Given the description of an element on the screen output the (x, y) to click on. 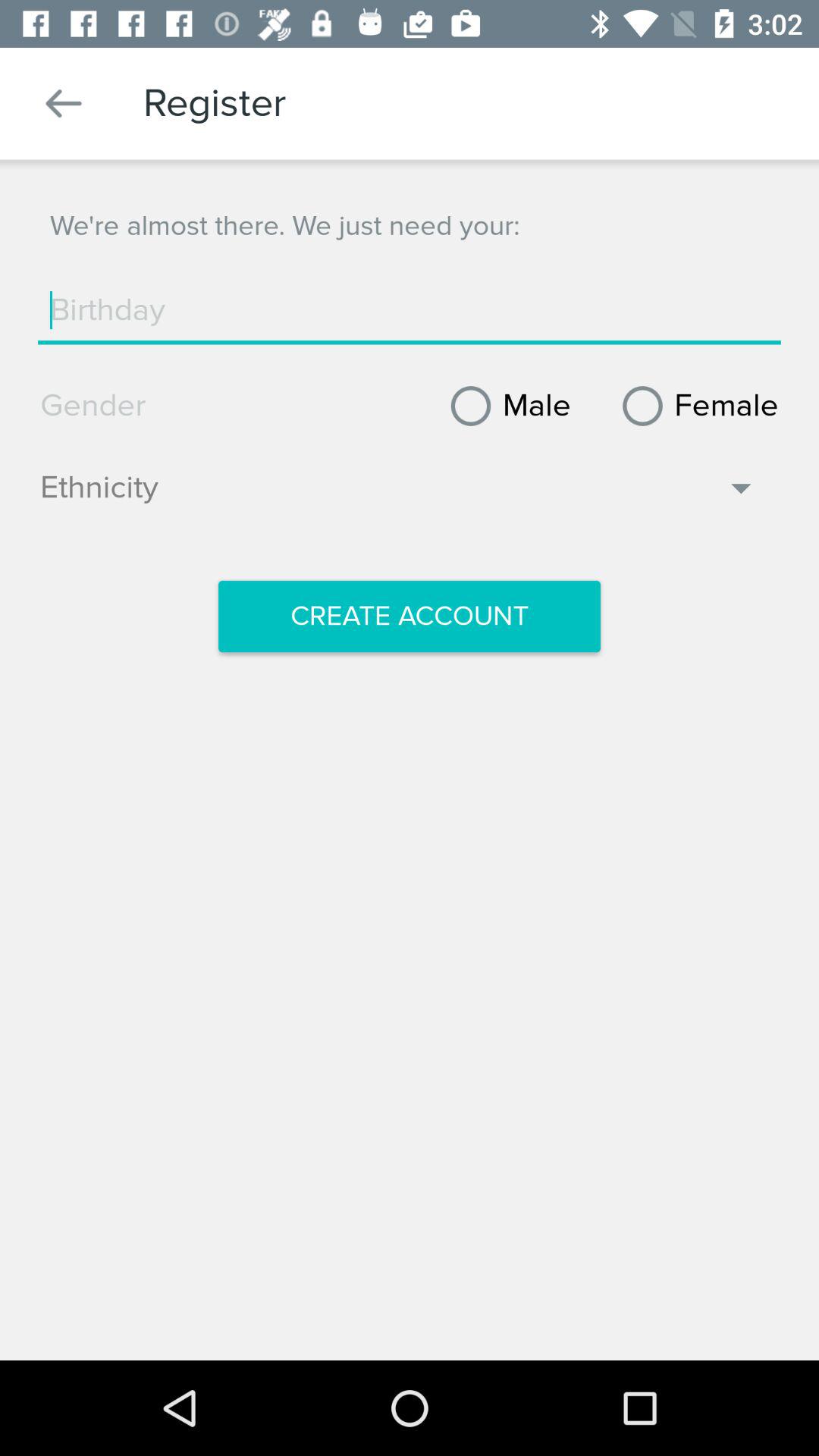
enter birthday (409, 310)
